Given the description of an element on the screen output the (x, y) to click on. 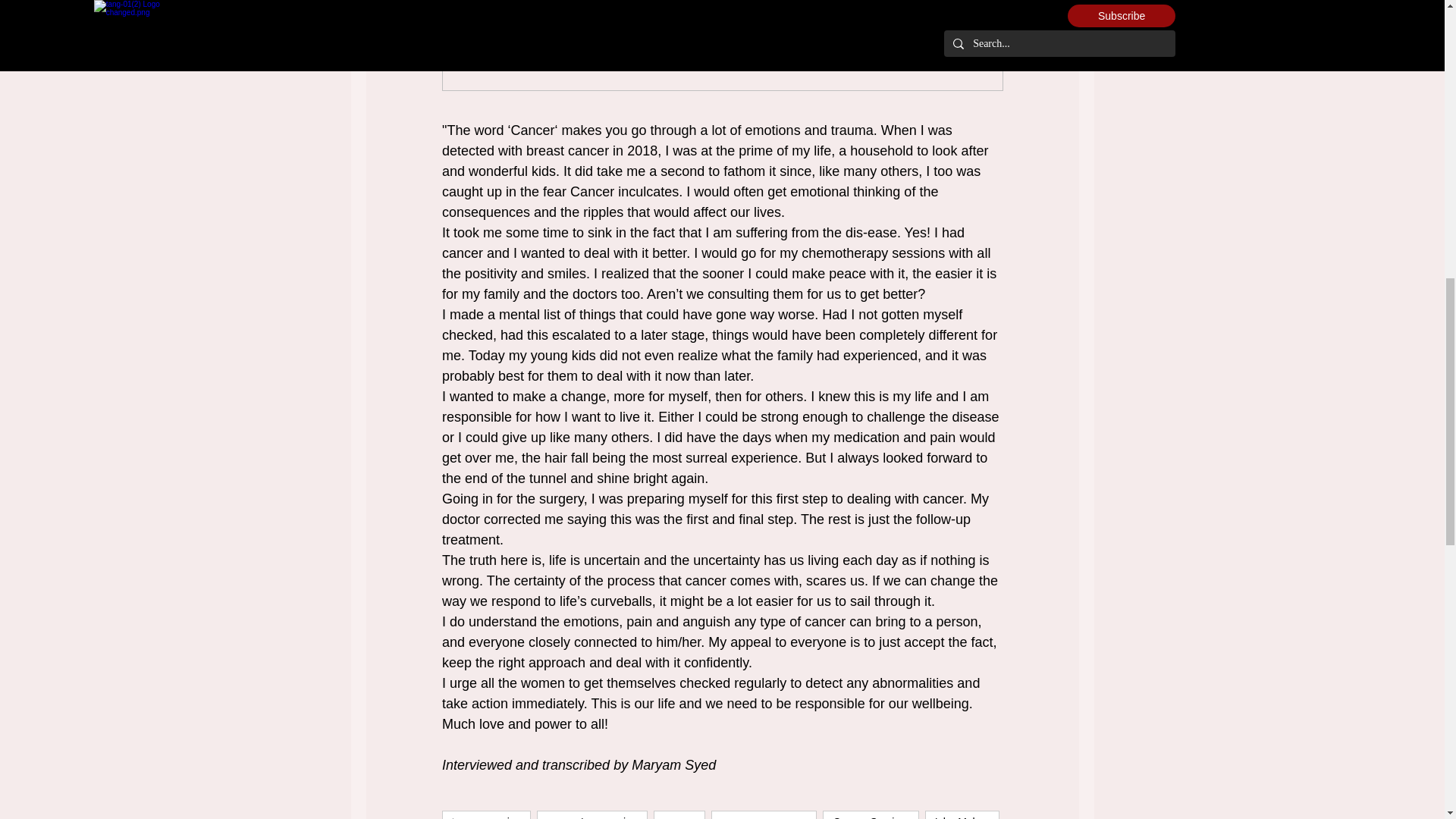
cancer (678, 814)
cancer awareness (763, 814)
women's magazine (591, 814)
tang magazine (486, 814)
Isha Makan (961, 814)
Cancer Survivor (870, 814)
